Given the description of an element on the screen output the (x, y) to click on. 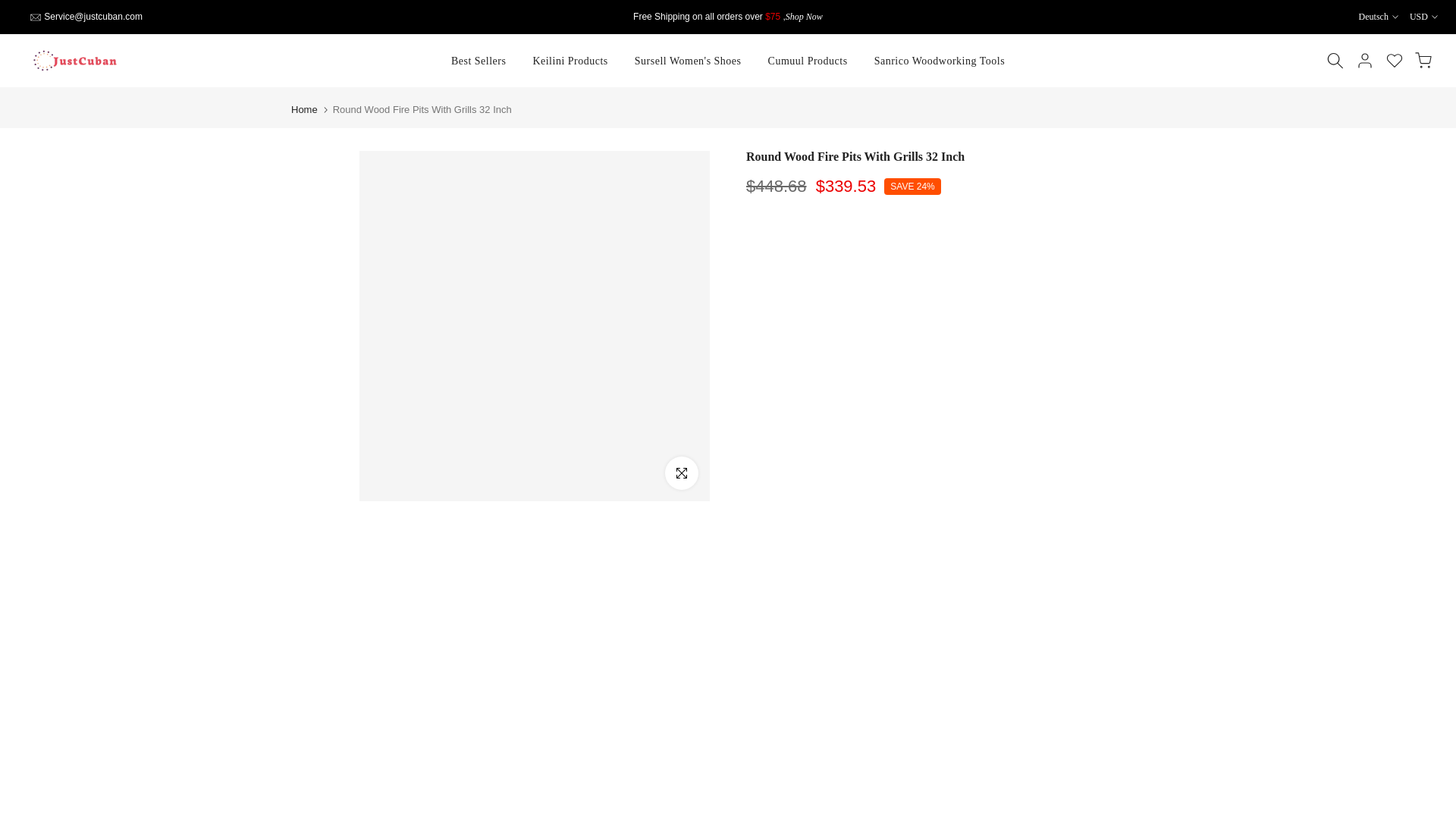
Sursell Women's Shoes (687, 61)
Skip to content (10, 7)
Best Sellers (478, 61)
All collections (804, 16)
Keilini Products (570, 61)
Sanrico Woodworking Tools (938, 61)
Home (304, 109)
Cumuul Products (807, 61)
Deutsch (1377, 16)
Shop Now (804, 16)
USD (1423, 16)
